Given the description of an element on the screen output the (x, y) to click on. 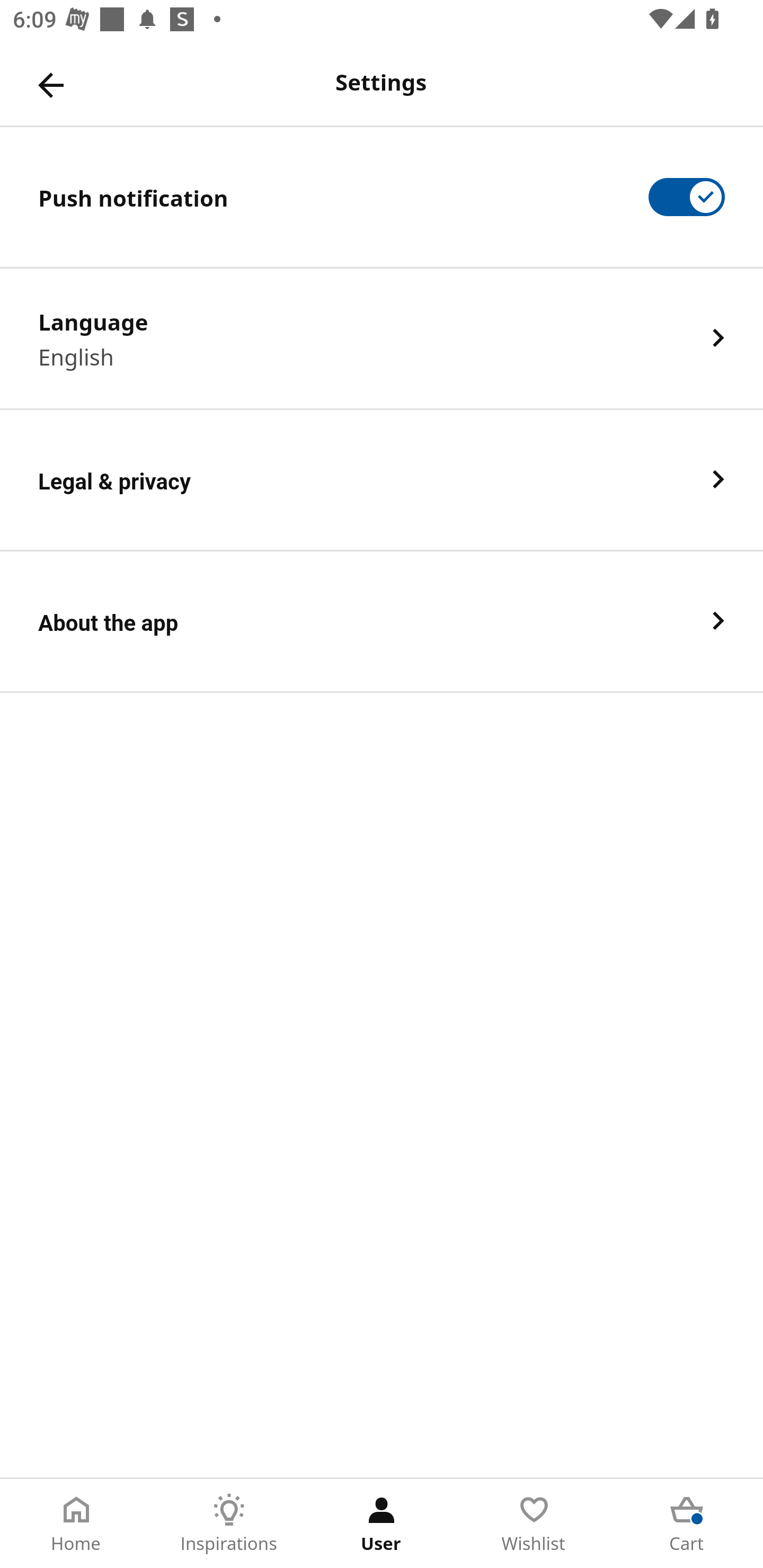
Push notification (381, 196)
Language
English (381, 338)
Legal & privacy (381, 480)
About the app (381, 622)
Home
Tab 1 of 5 (76, 1522)
Inspirations
Tab 2 of 5 (228, 1522)
User
Tab 3 of 5 (381, 1522)
Wishlist
Tab 4 of 5 (533, 1522)
Cart
Tab 5 of 5 (686, 1522)
